Given the description of an element on the screen output the (x, y) to click on. 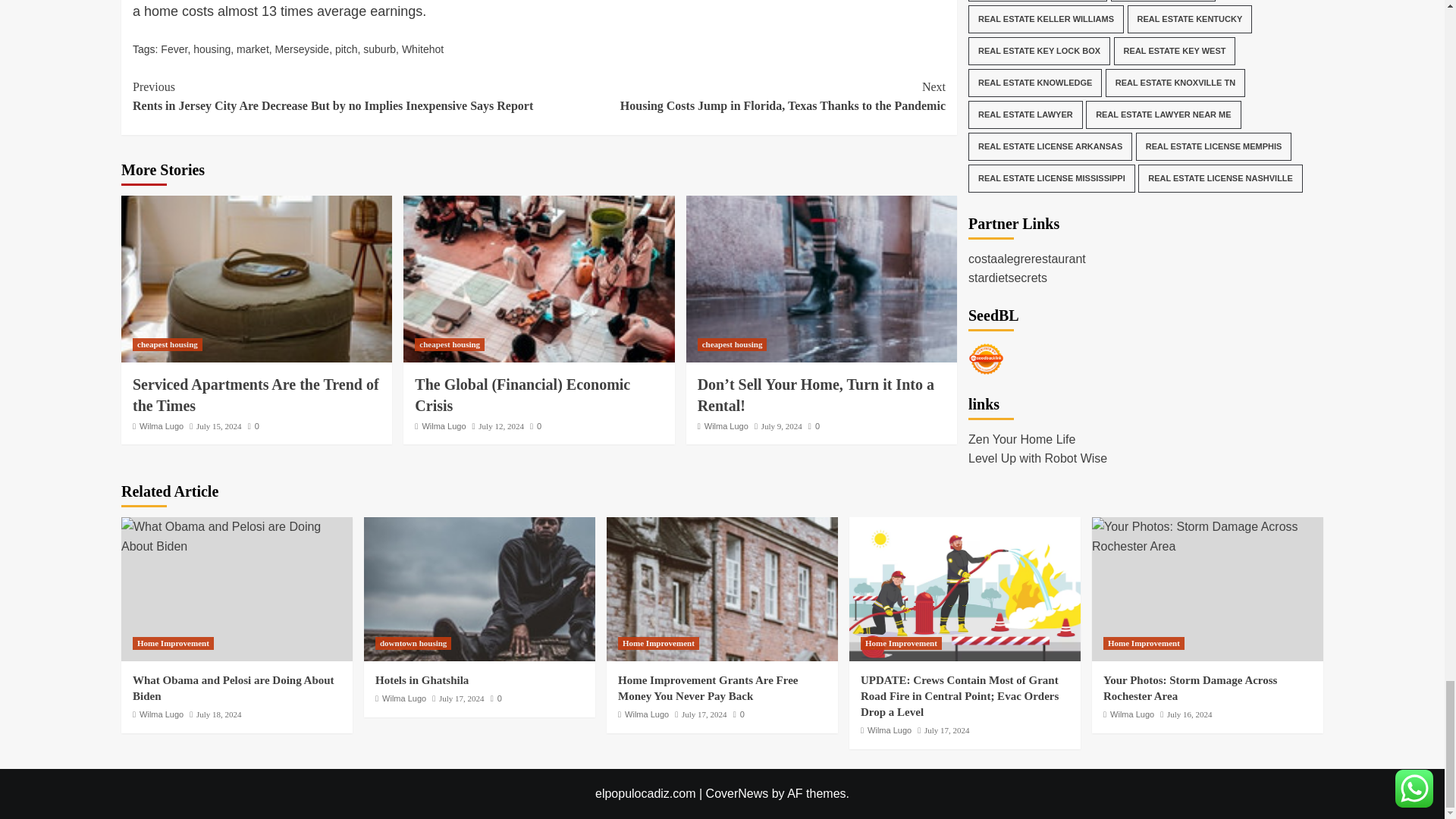
cheapest housing (449, 344)
Serviced Apartments Are the Trend of the Times (255, 394)
market (252, 49)
suburb (379, 49)
Home Improvement Grants Are Free Money You Never Pay Back (722, 588)
Serviced Apartments Are the Trend of the Times (255, 278)
Fever (173, 49)
housing (211, 49)
What Obama and Pelosi are Doing About Biden (236, 536)
pitch (346, 49)
Wilma Lugo (161, 425)
Merseyside (302, 49)
Whitehot (422, 49)
cheapest housing (167, 344)
